Given the description of an element on the screen output the (x, y) to click on. 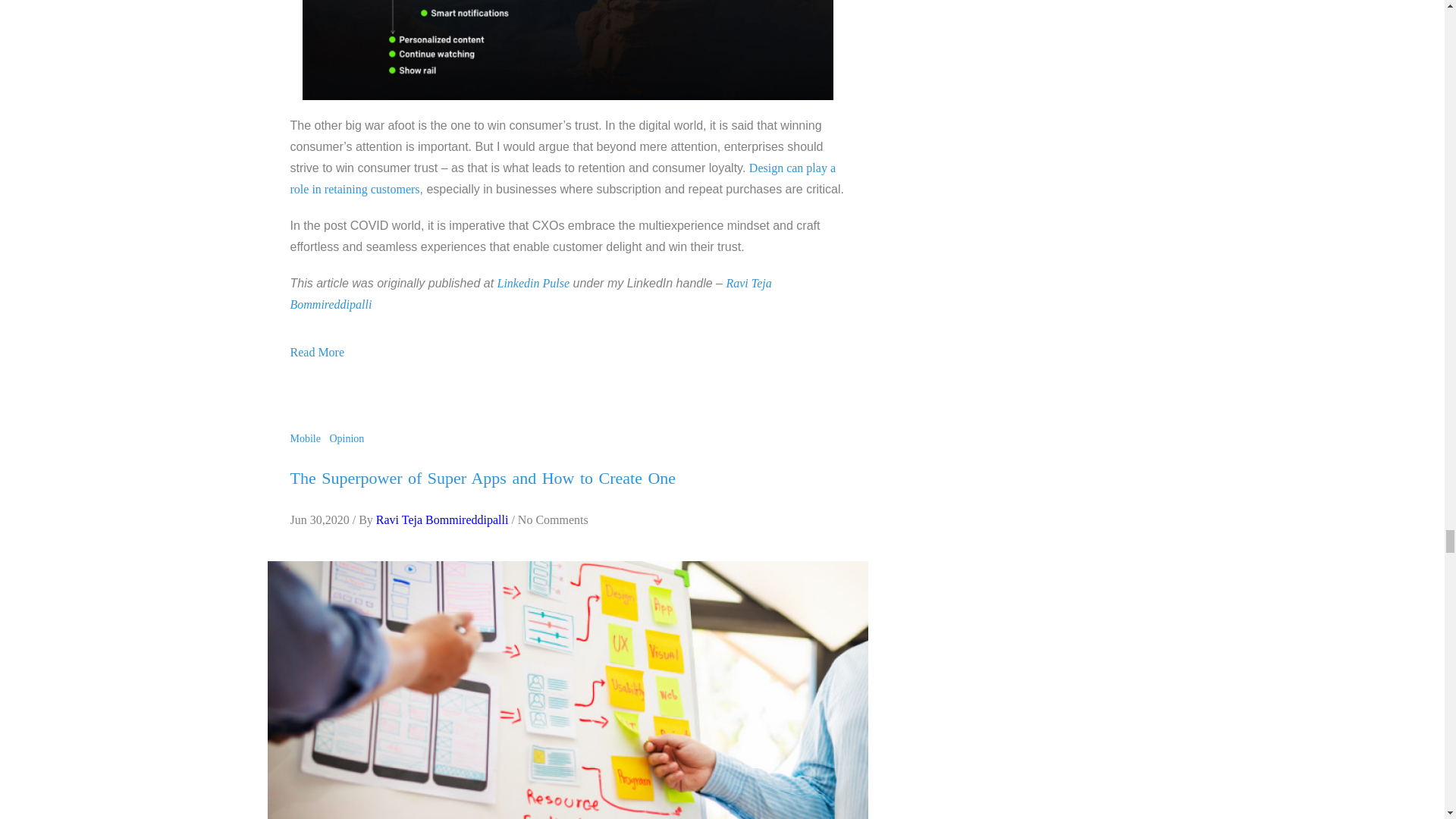
Posts by Ravi Teja Bommireddipalli (441, 519)
